Given the description of an element on the screen output the (x, y) to click on. 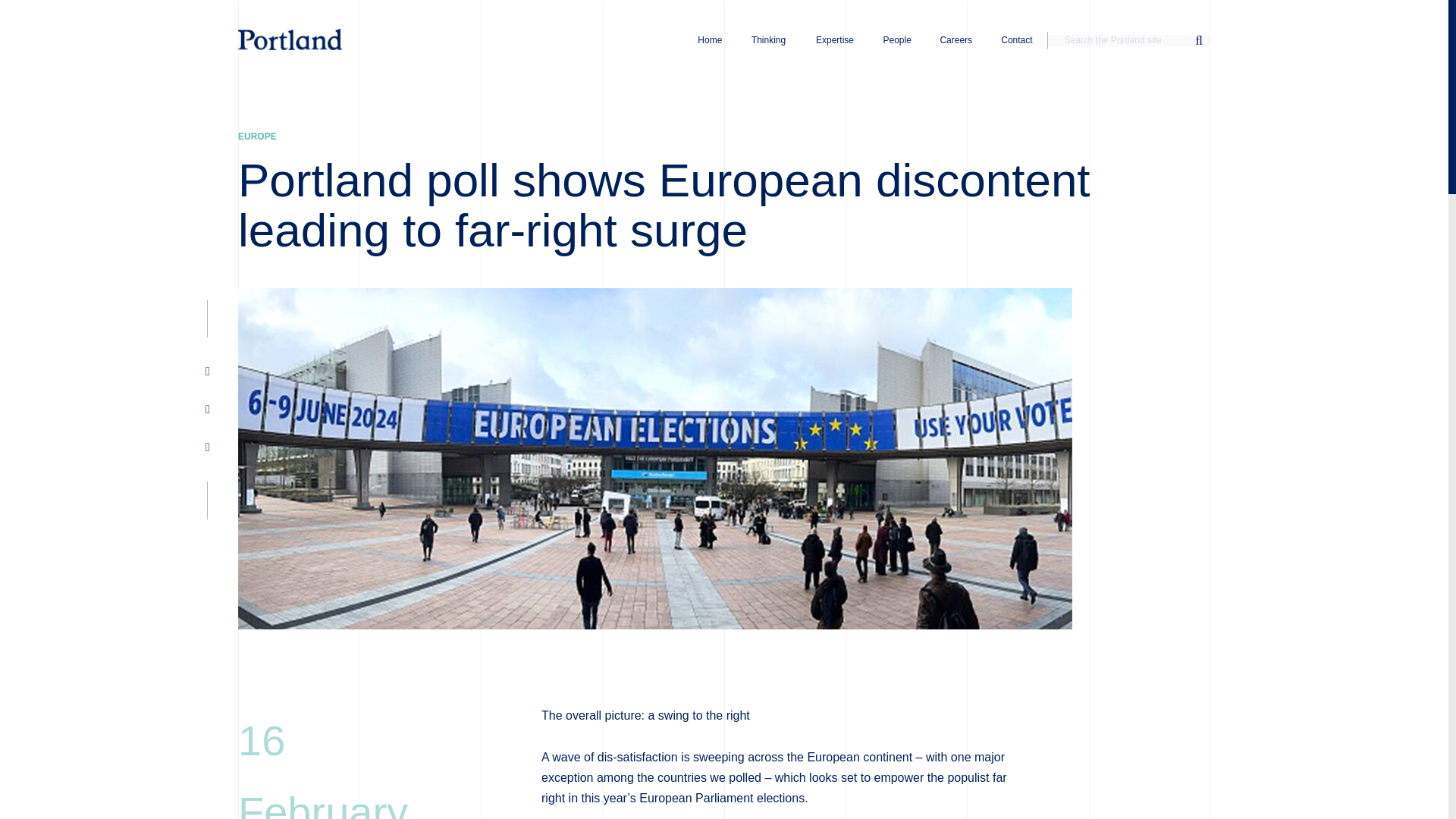
Contact (1016, 39)
Thinking (768, 39)
Careers (955, 39)
Expertise (834, 39)
EUROPE (257, 136)
People (897, 39)
